Given the description of an element on the screen output the (x, y) to click on. 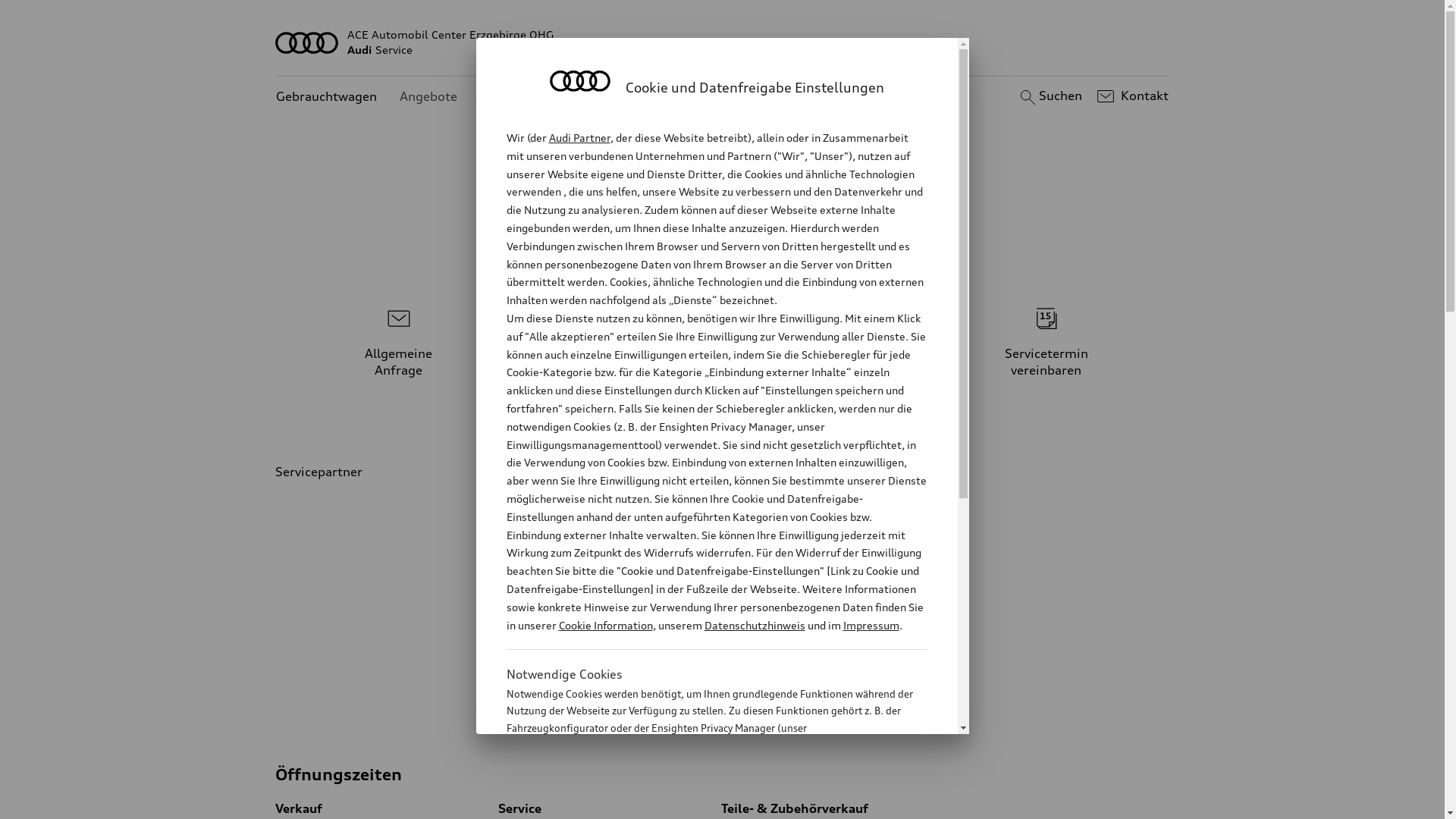
Anfahrt Element type: text (765, 662)
Allgemeine
Anfrage Element type: text (398, 338)
ACE Automobil Center Erzgebirge OHG
AudiService Element type: text (722, 42)
Audi Partner Element type: text (579, 137)
Datenschutzhinweis Element type: text (753, 624)
In myAudi speichern Element type: text (802, 717)
Suchen Element type: text (1049, 96)
info@ace-ohg.de Element type: text (809, 626)
Impressum Element type: text (871, 624)
+49 3774 15770 Element type: text (839, 571)
Kontaktdaten herunterladen Element type: text (827, 689)
Kontakt Element type: text (1130, 96)
Cookie Information Element type: text (700, 802)
Gebrauchtwagen Element type: text (326, 96)
Serviceberater
kontaktieren Element type: text (722, 338)
Angebote Element type: text (428, 96)
Cookie Information Element type: text (605, 624)
Kundenservice Element type: text (523, 96)
Servicetermin
vereinbaren Element type: text (1046, 338)
